Given the description of an element on the screen output the (x, y) to click on. 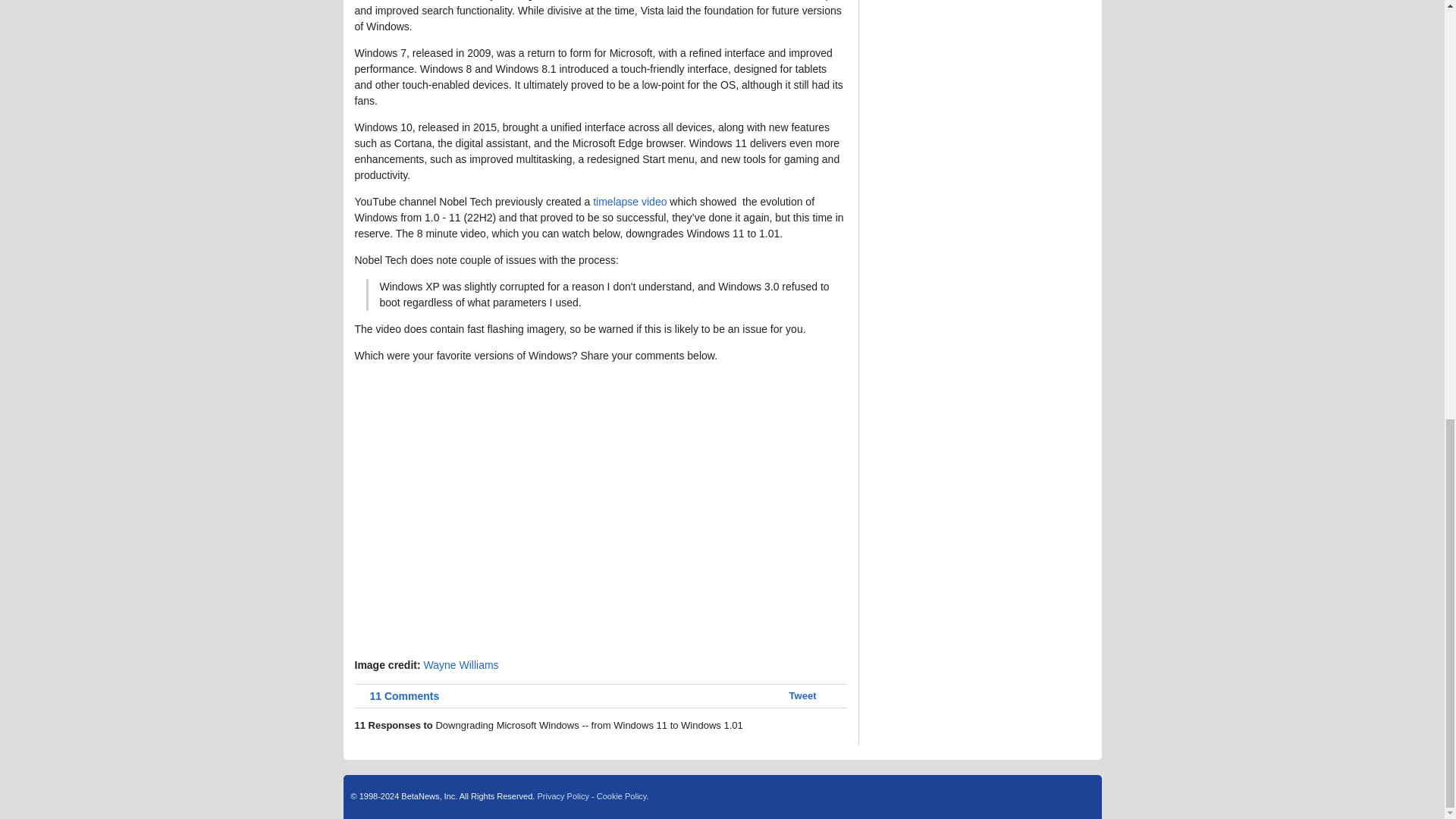
11 Comments (397, 695)
timelapse video (629, 201)
Wayne Williams (461, 664)
Tweet (802, 695)
